Given the description of an element on the screen output the (x, y) to click on. 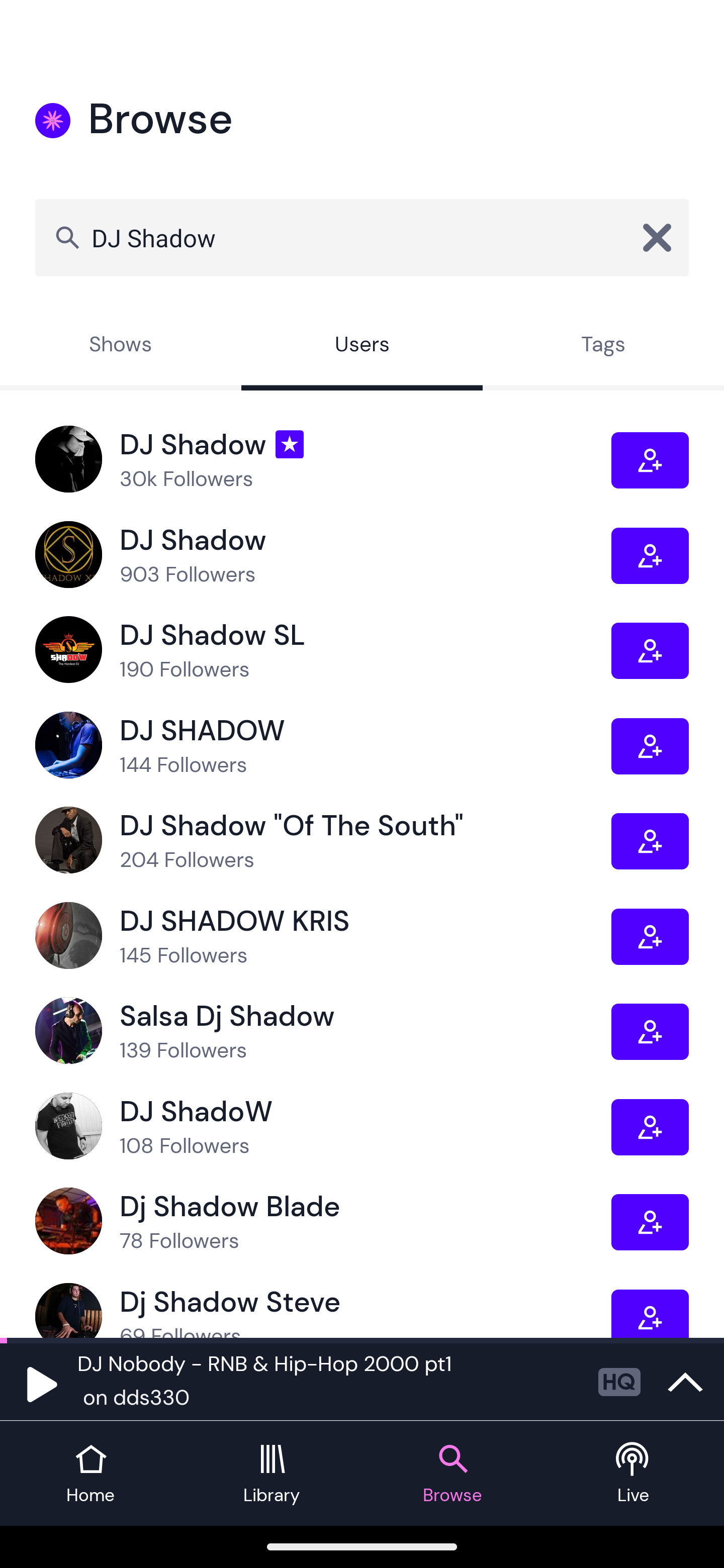
DJ Shadow (361, 237)
Shows (120, 346)
Users (361, 346)
Tags (603, 346)
DJ Shadow, 30k Followers DJ Shadow 30k Followers (323, 458)
Follow (649, 460)
DJ Shadow, 903 Followers DJ Shadow 903 Followers (323, 554)
Follow (649, 555)
Follow (649, 650)
DJ SHADOW, 144 Followers DJ SHADOW 144 Followers (323, 745)
Follow (649, 746)
Follow (649, 840)
Follow (649, 935)
Follow (649, 1031)
DJ ShadoW, 108 Followers DJ ShadoW 108 Followers (323, 1126)
Follow (649, 1127)
Follow (649, 1221)
Follow (649, 1312)
Home tab Home (90, 1473)
Library tab Library (271, 1473)
Browse tab Browse (452, 1473)
Live tab Live (633, 1473)
